Given the description of an element on the screen output the (x, y) to click on. 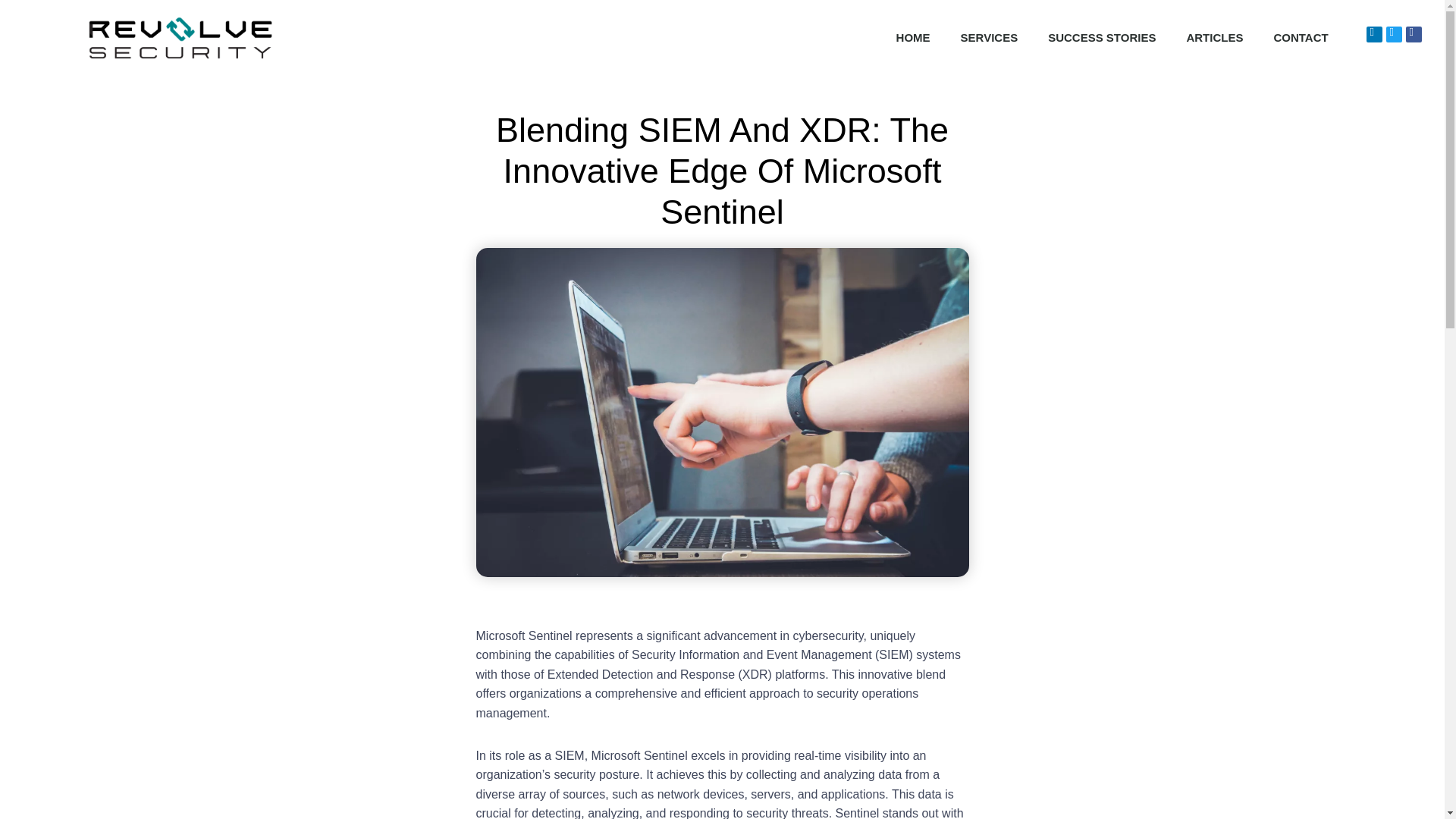
ARTICLES (1213, 38)
SUCCESS STORIES (1101, 38)
CONTACT (1299, 38)
SERVICES (988, 38)
Skip to content (11, 31)
